Given the description of an element on the screen output the (x, y) to click on. 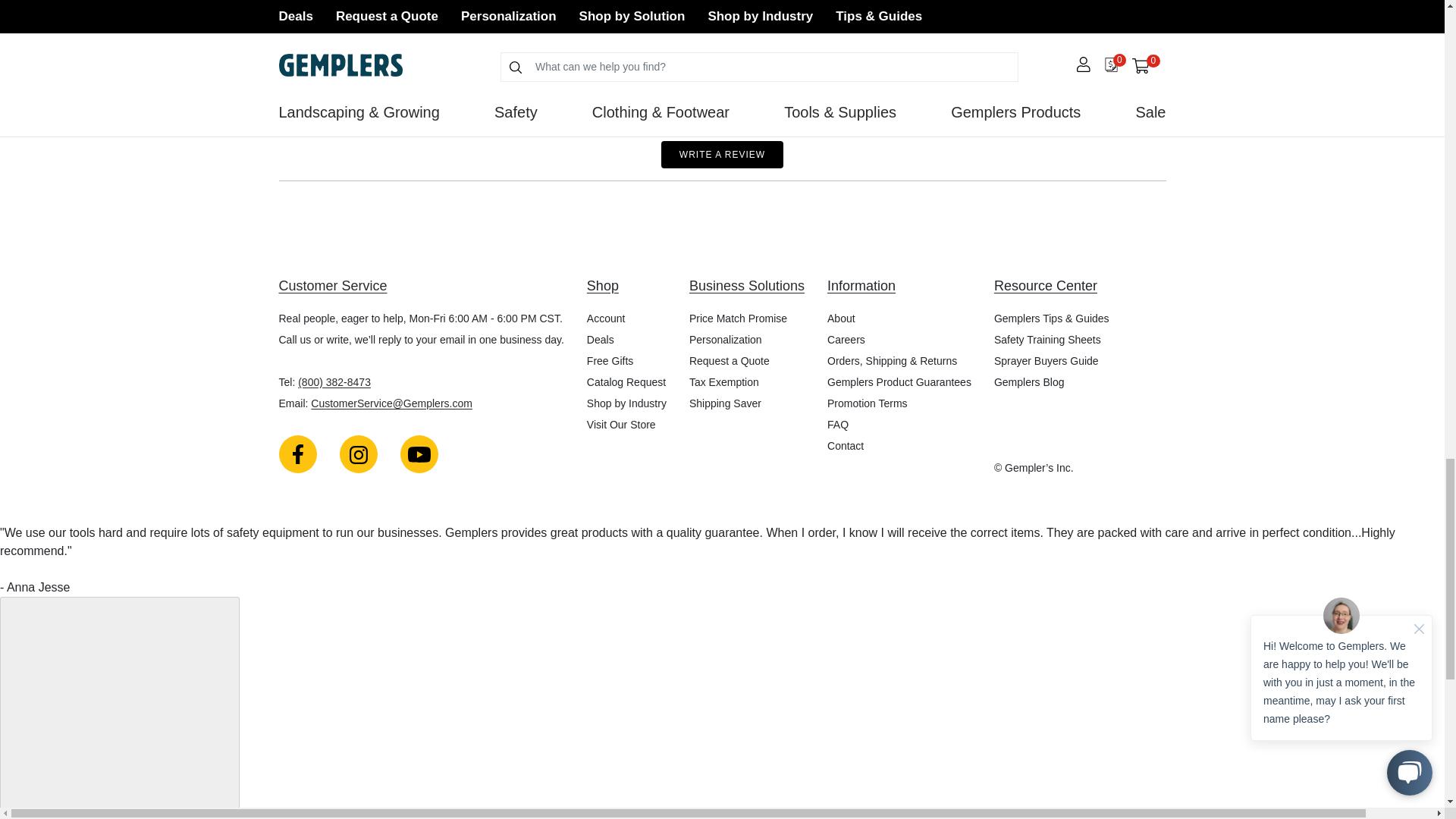
Instagram (358, 453)
Youtube (419, 453)
Facebook (298, 453)
